Given the description of an element on the screen output the (x, y) to click on. 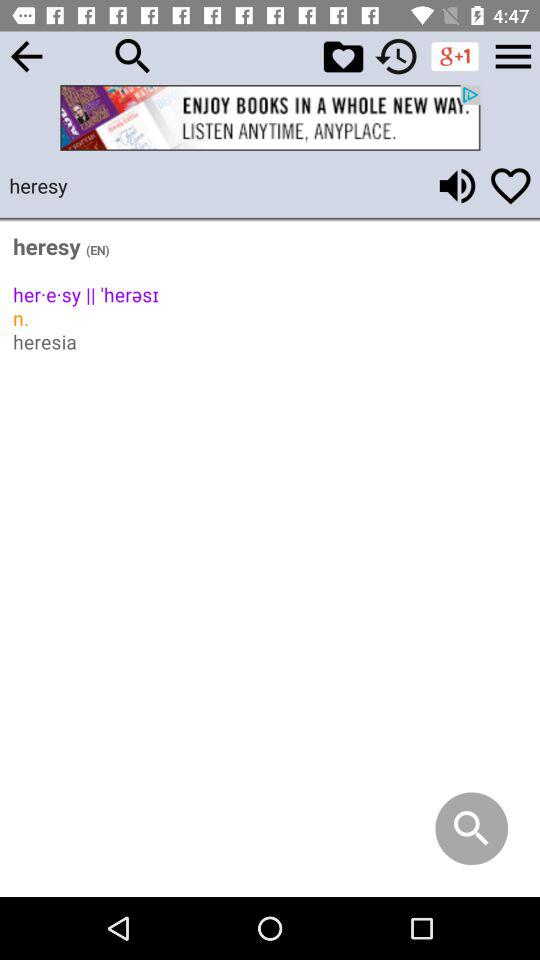
backword the option (26, 56)
